Given the description of an element on the screen output the (x, y) to click on. 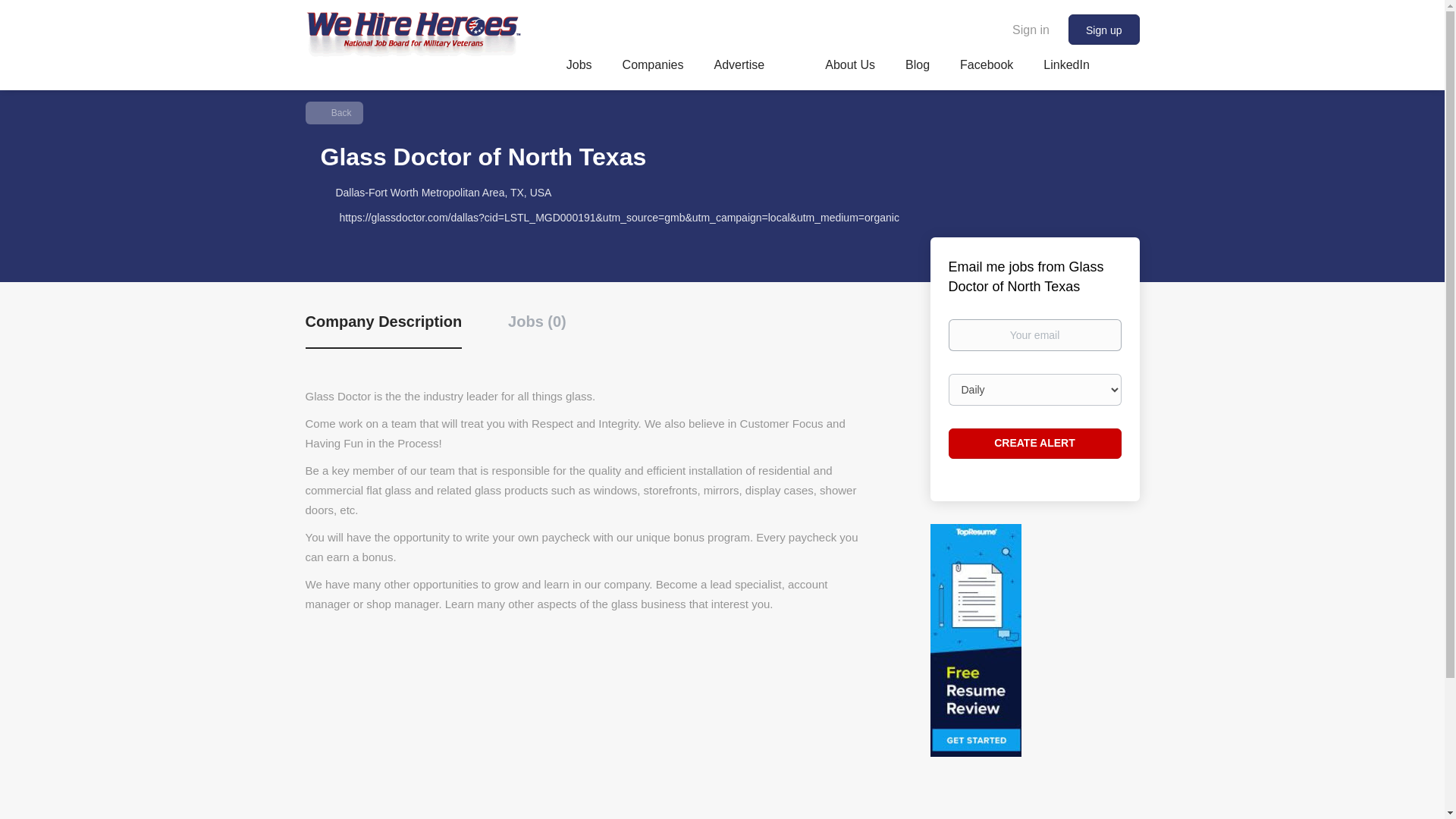
Sign in (1031, 28)
Create alert (1034, 443)
Blog (917, 66)
Companies (653, 66)
Sign up (1103, 29)
LinkedIn (1066, 66)
Facebook (986, 66)
Back (333, 112)
Jobs (579, 66)
Company Description (382, 330)
